Given the description of an element on the screen output the (x, y) to click on. 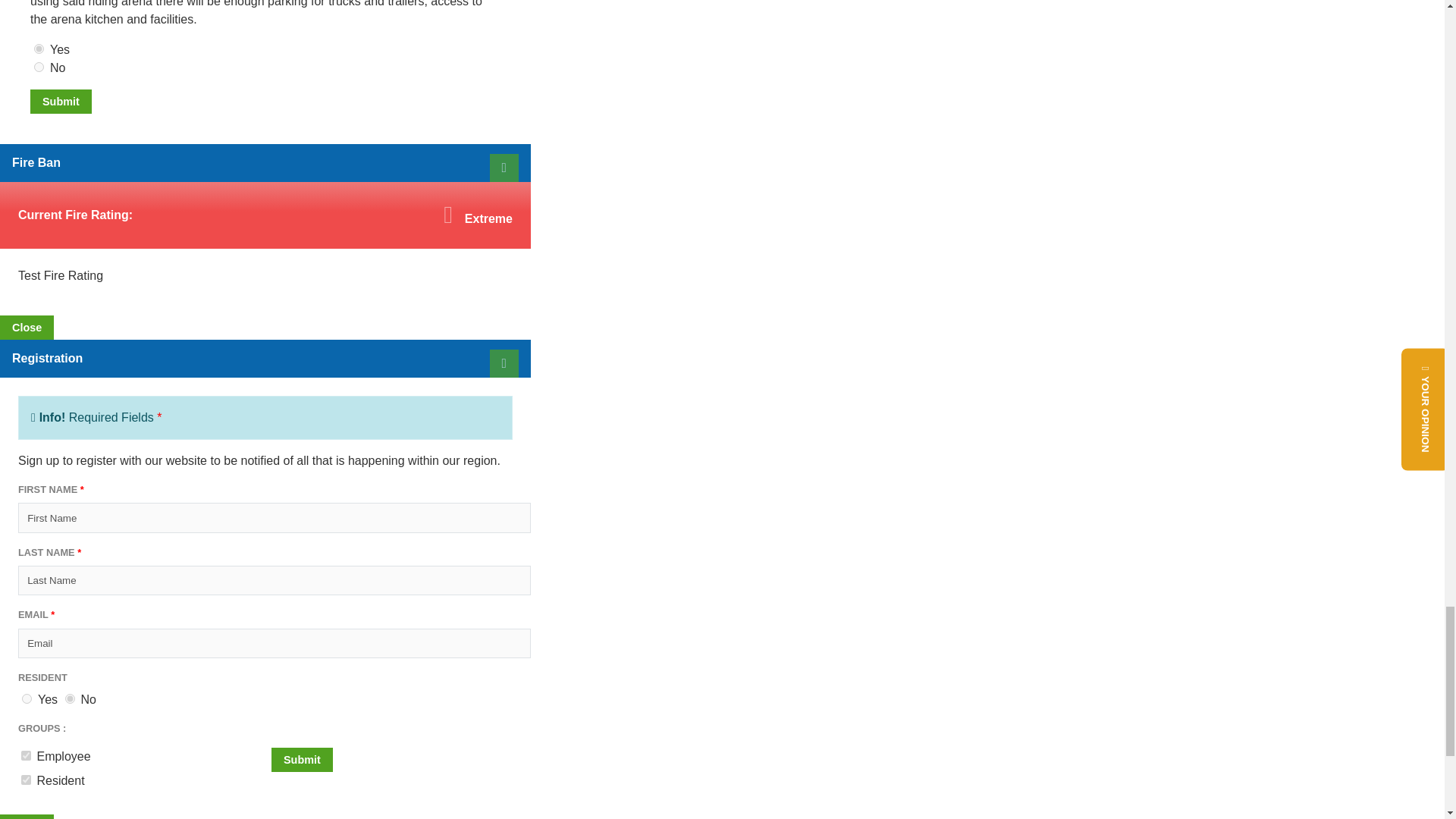
cbf6428f-d900-4172-bf71-ec7ae6f27543 (25, 755)
False (70, 698)
63d8365d-db03-4970-aa66-100125936eab (25, 779)
Submit (301, 759)
5b4ba5fa-32af-4967-9ce8-bc2b7eedc79f (38, 67)
True (26, 698)
ad85e987-3ba0-4238-a3db-a16477783eab (38, 49)
Submit (60, 101)
